Given the description of an element on the screen output the (x, y) to click on. 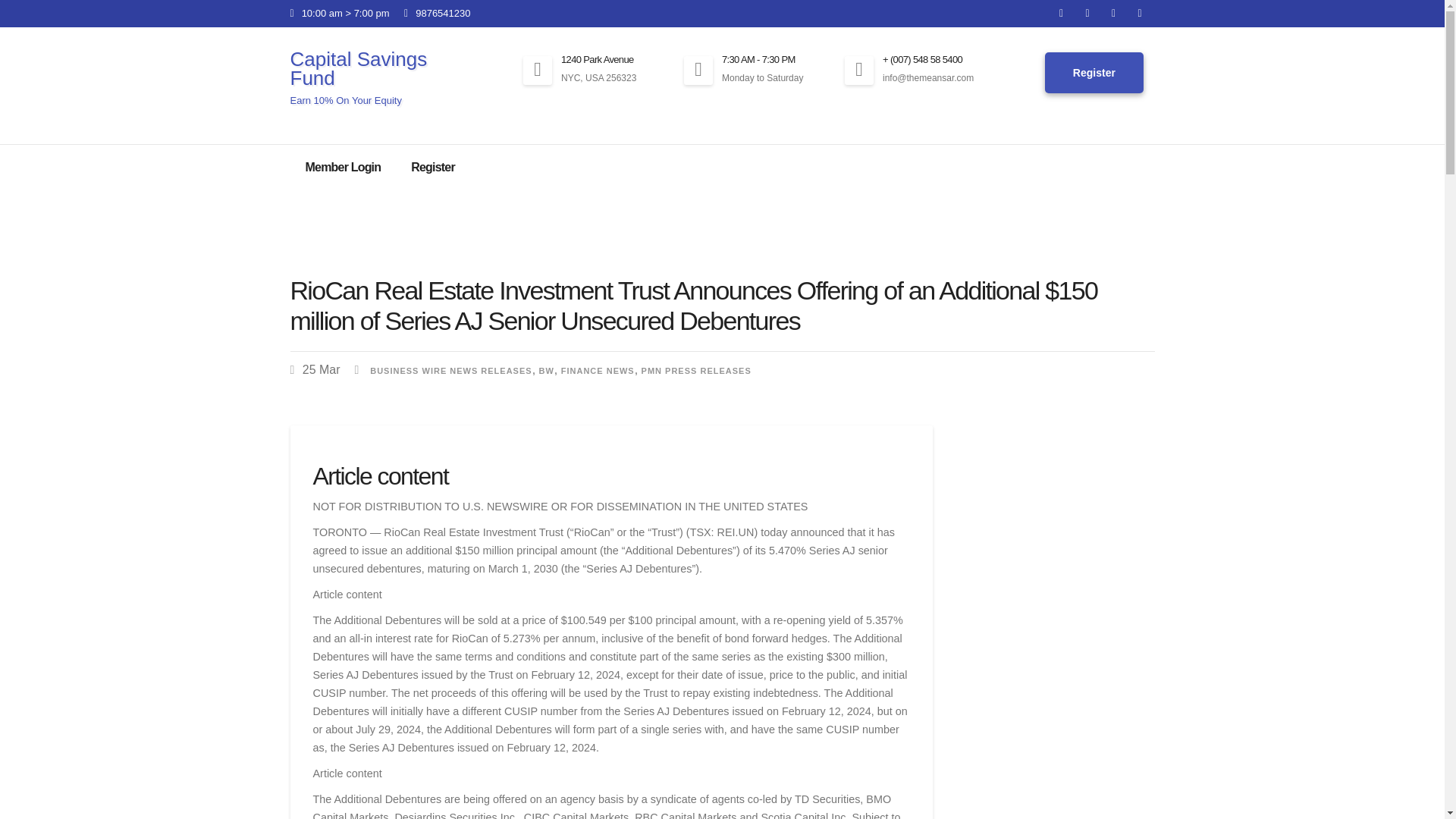
Register (1092, 73)
FINANCE NEWS (597, 370)
Register (433, 167)
BW (546, 370)
BUSINESS WIRE NEWS RELEASES (450, 370)
PMN PRESS RELEASES (696, 370)
9876541230 (437, 12)
Member Login (342, 167)
